Given the description of an element on the screen output the (x, y) to click on. 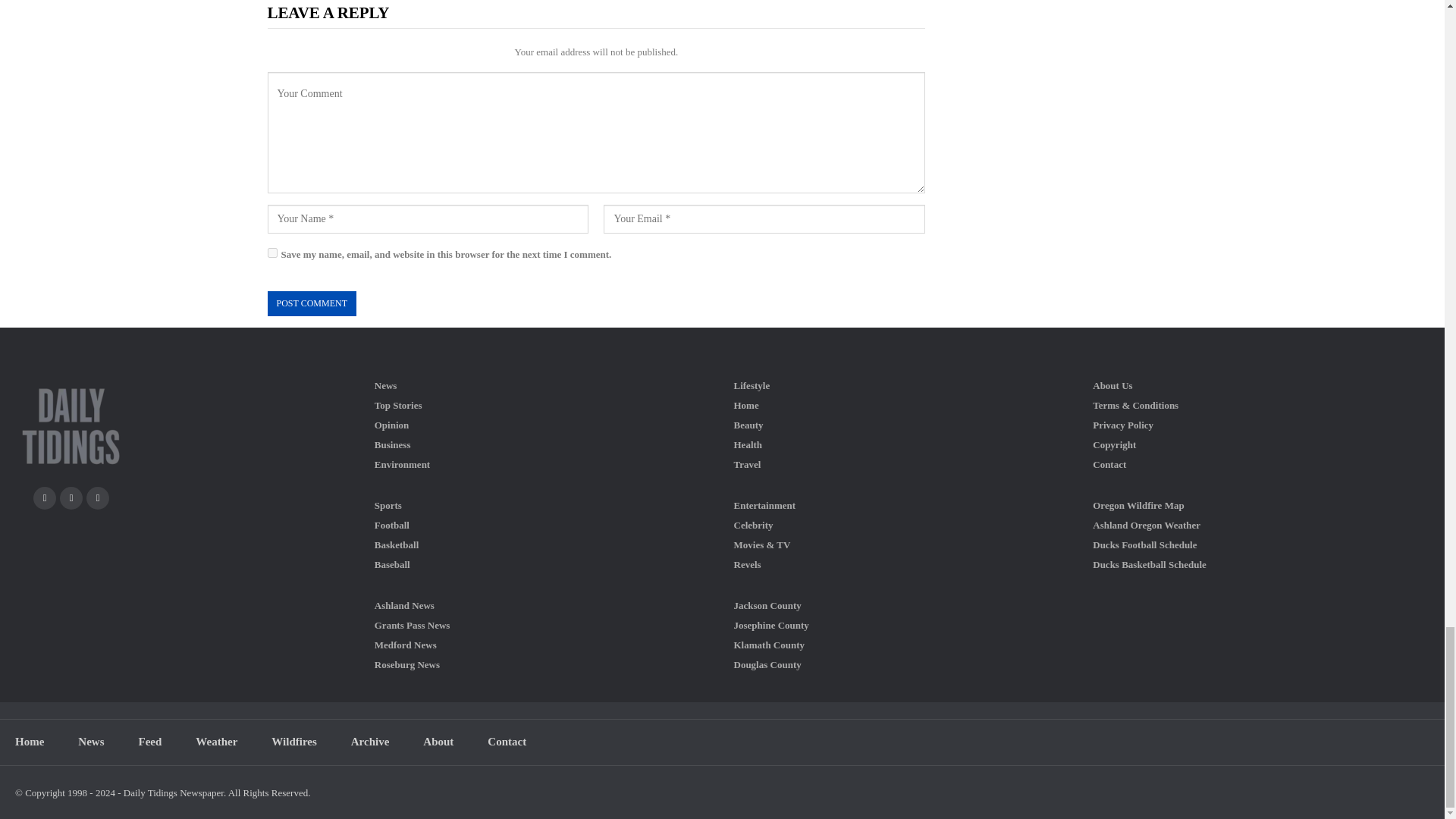
yes (271, 252)
Post Comment (310, 303)
